Given the description of an element on the screen output the (x, y) to click on. 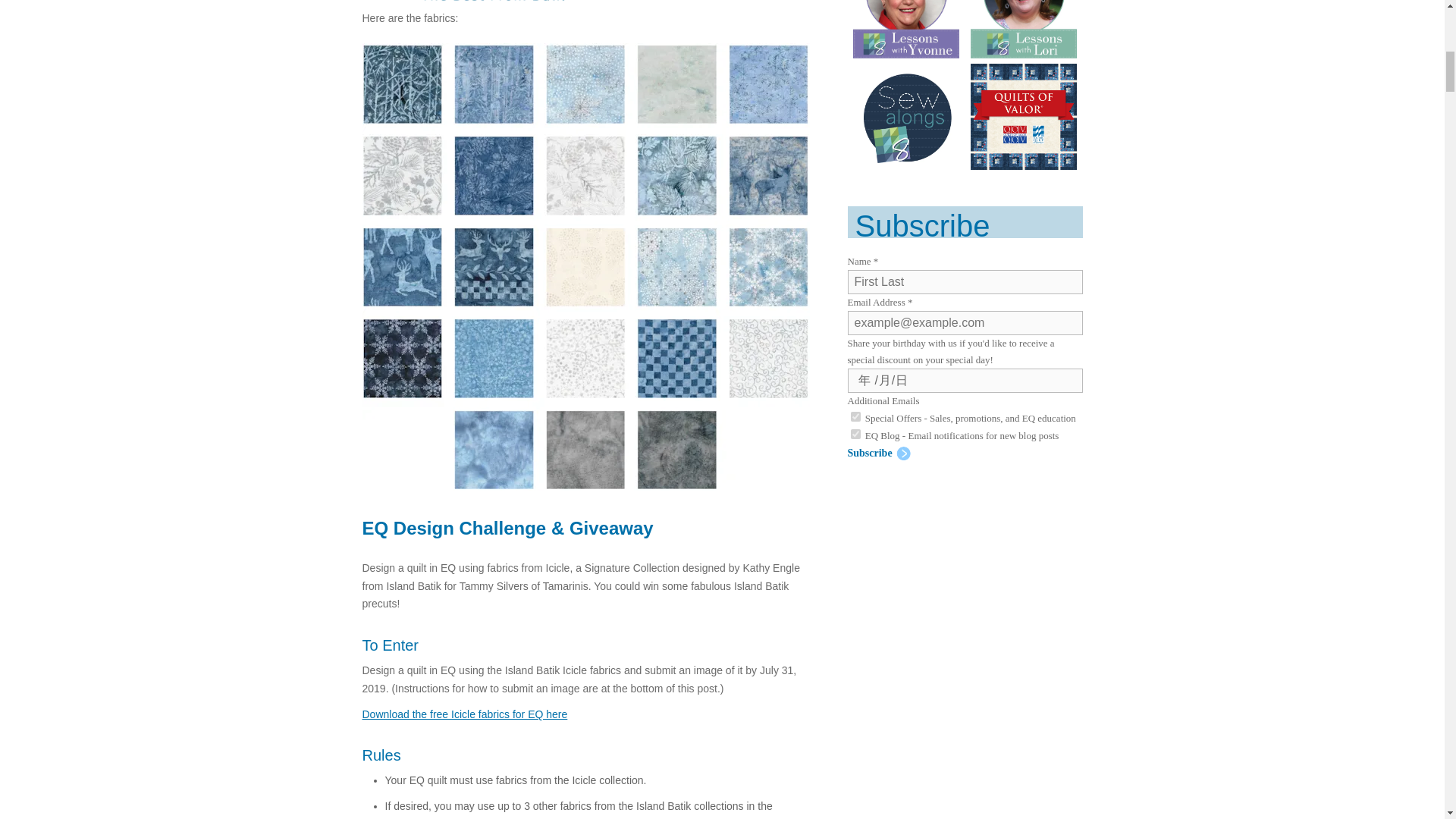
true (855, 433)
Subscribe (879, 453)
21 (930, 491)
true (855, 416)
